Given the description of an element on the screen output the (x, y) to click on. 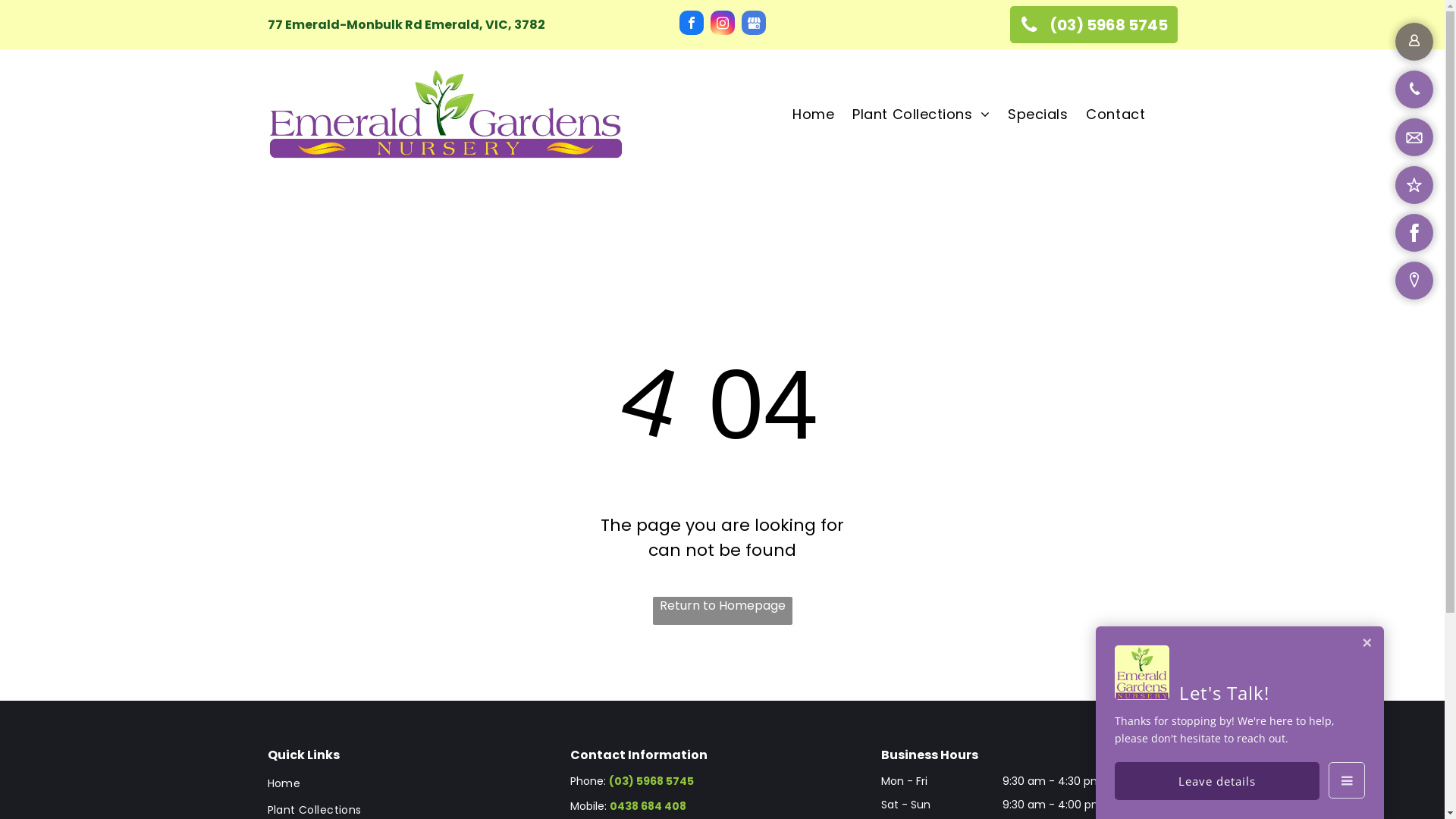
Contact Element type: text (1115, 113)
(03) 5968 5745 Element type: text (650, 780)
(03) 5968 5745 Element type: text (1093, 24)
Home Element type: text (414, 785)
Home Element type: text (813, 113)
0438 684 408 Element type: text (647, 805)
Return to Homepage Element type: text (721, 610)
Specials Element type: text (1037, 113)
Plant Collections Element type: text (920, 113)
Emerald Gardens Nursery Element type: hover (445, 113)
77 Emerald-Monbulk Rd Emerald, VIC, 3782 Element type: text (405, 23)
Leave details Element type: text (1216, 781)
